Given the description of an element on the screen output the (x, y) to click on. 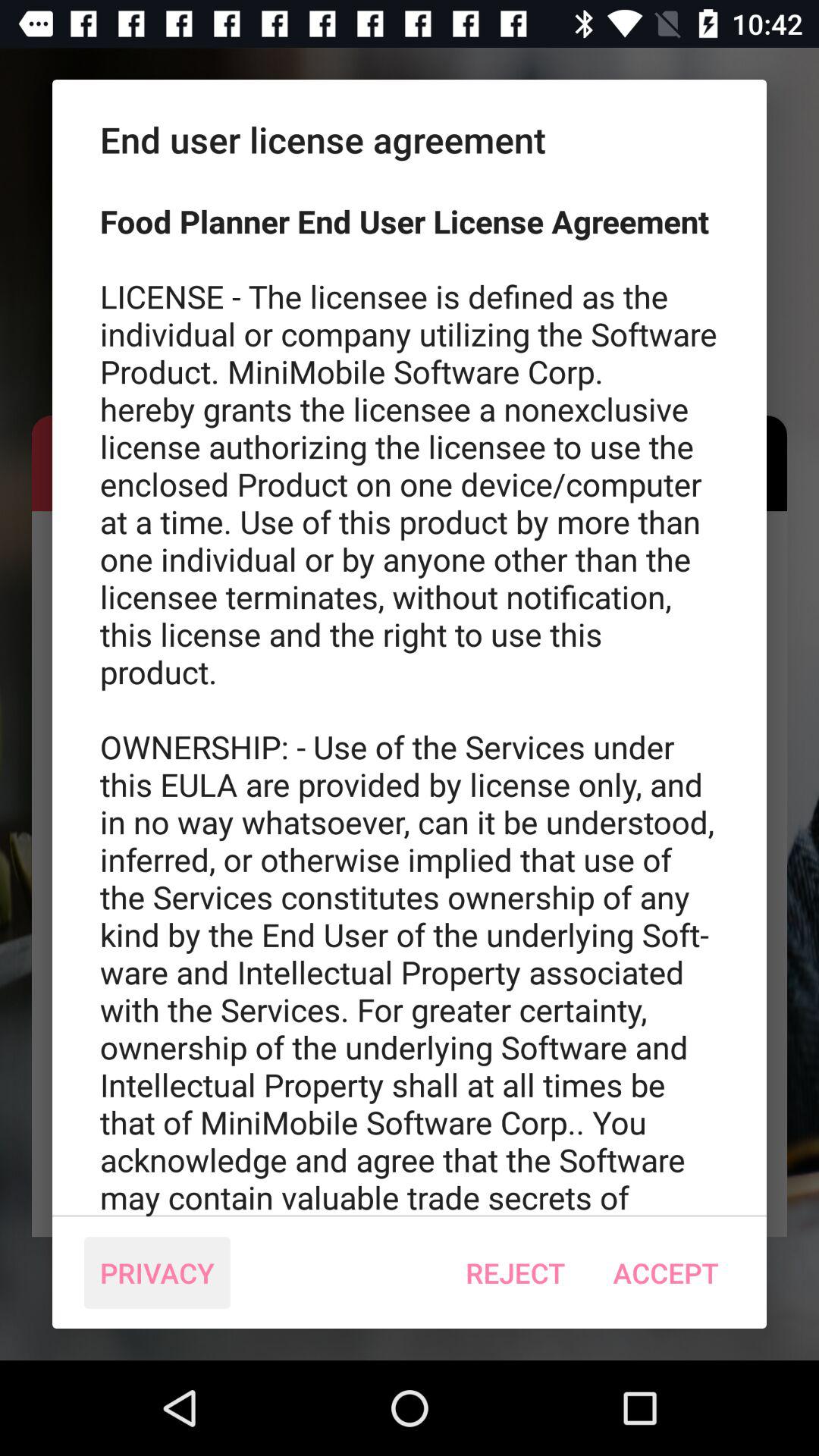
launch the accept item (665, 1272)
